Given the description of an element on the screen output the (x, y) to click on. 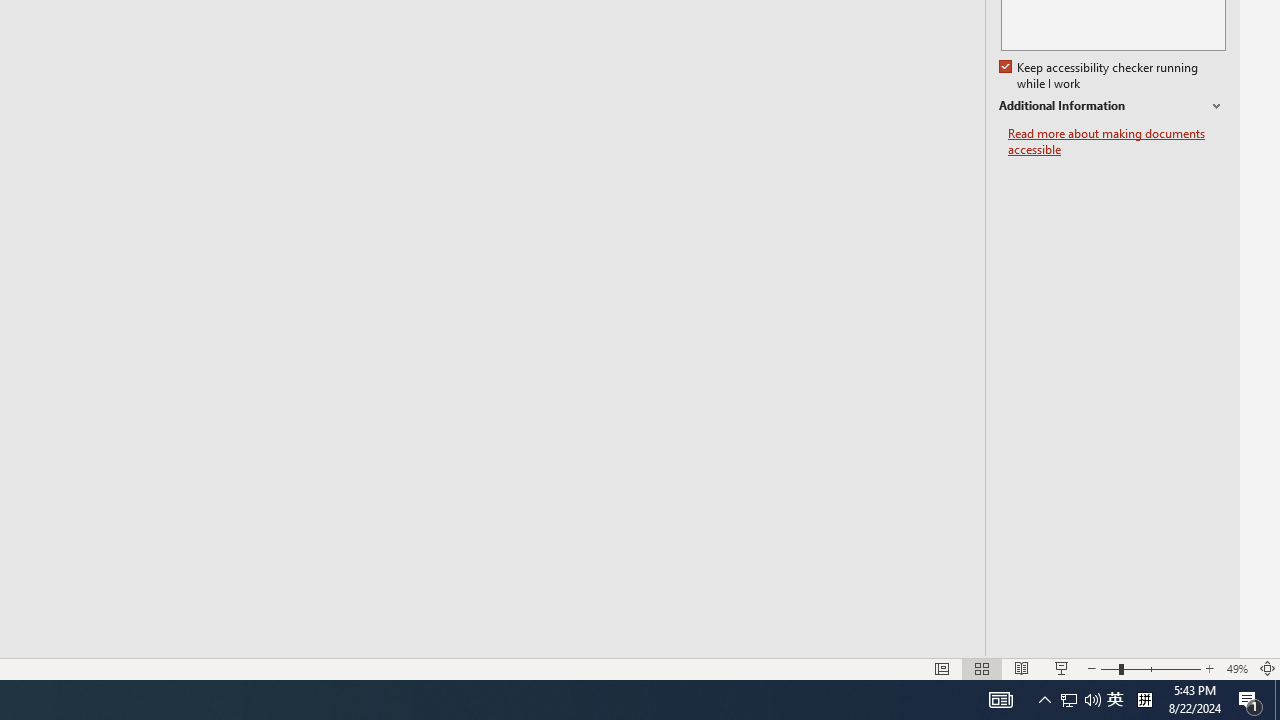
Read more about making documents accessible (1117, 142)
Zoom 49% (1236, 668)
Keep accessibility checker running while I work (1099, 76)
Additional Information (1112, 106)
